Given the description of an element on the screen output the (x, y) to click on. 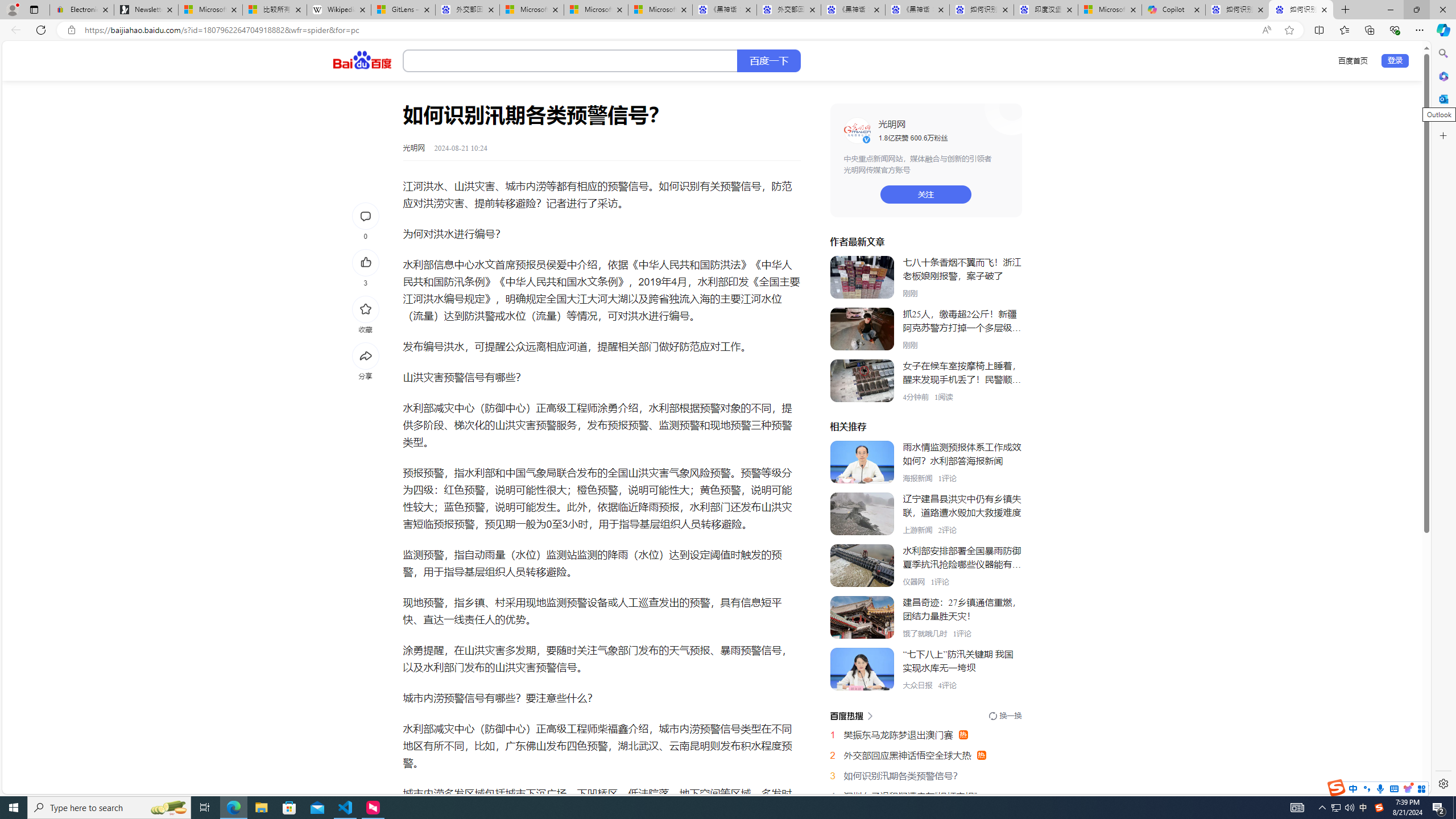
Class: _2C4fV (570, 60)
Class: XDq7y (861, 668)
Class: YHR87 (850, 715)
